Given the description of an element on the screen output the (x, y) to click on. 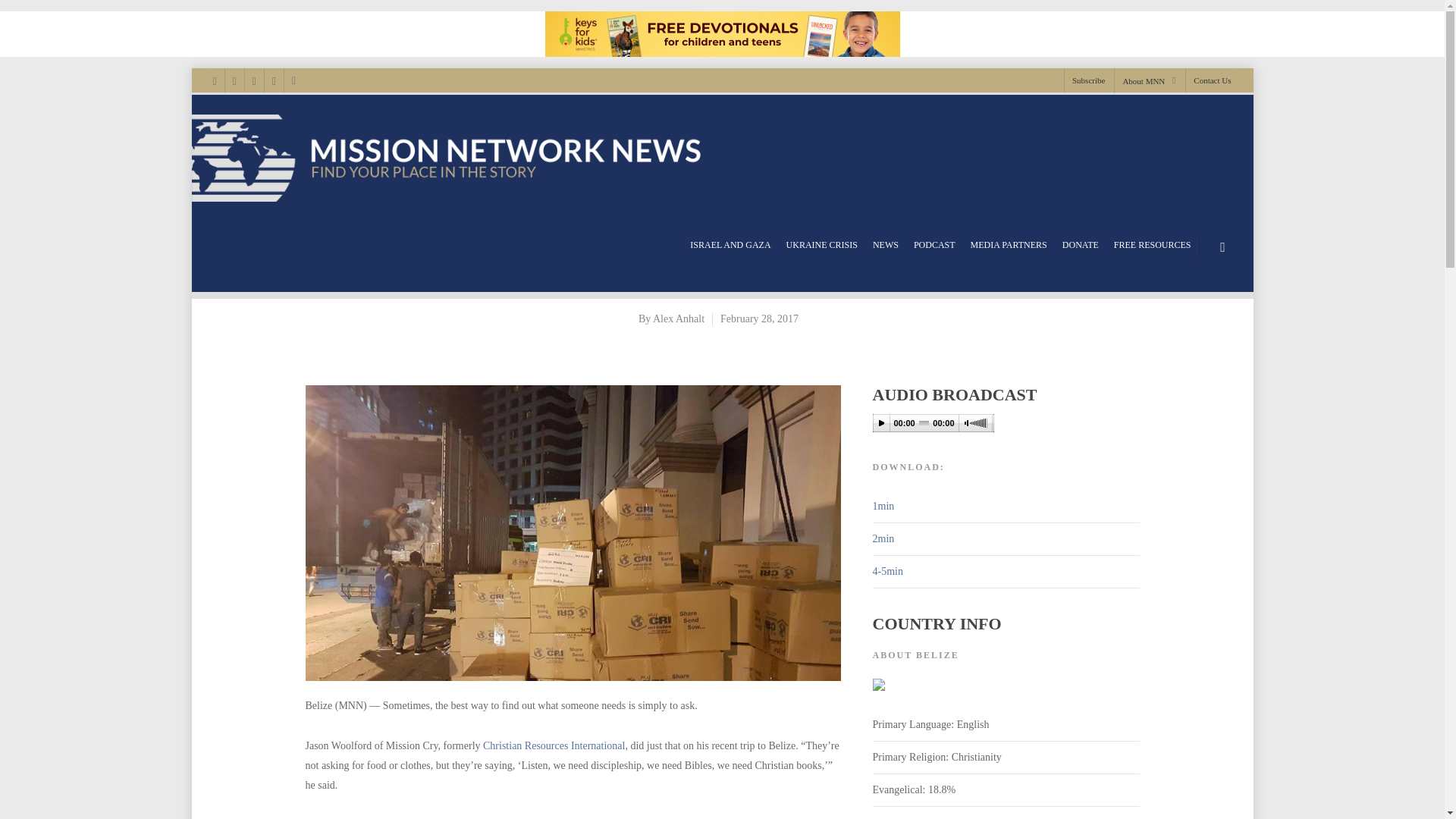
Posts by Alex Anhalt (678, 318)
About MNN (1148, 80)
Subscribe (1088, 80)
Contact Us (1207, 80)
ISRAEL AND GAZA (730, 245)
Alex Anhalt (678, 318)
Christian Resources International (553, 745)
